Given the description of an element on the screen output the (x, y) to click on. 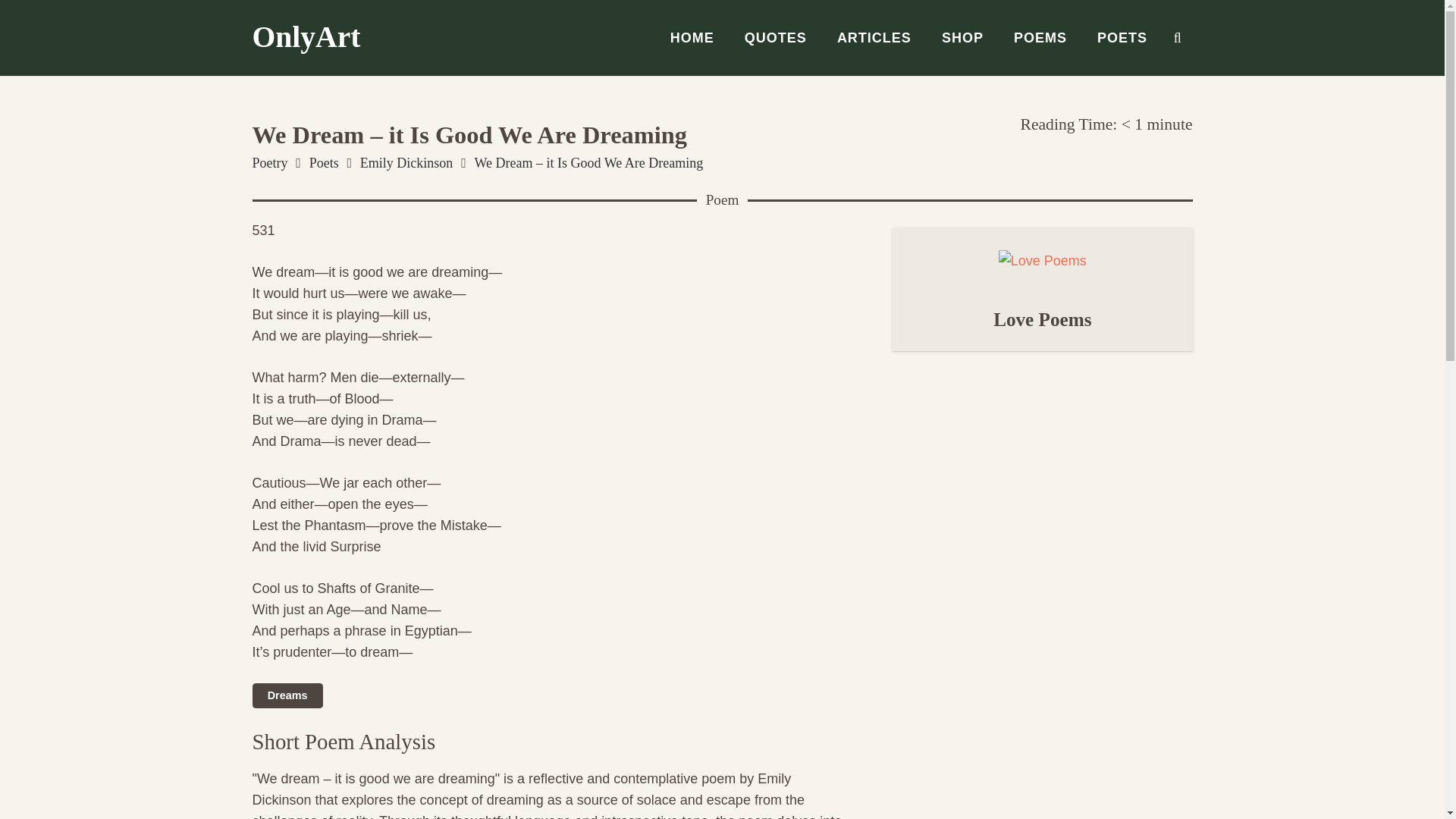
SHOP (962, 38)
Poetry (268, 162)
ARTICLES (874, 38)
HOME (692, 38)
POETS (1121, 38)
QUOTES (775, 38)
POEMS (1039, 38)
Emily Dickinson (405, 162)
Dreams (286, 695)
Poets (323, 162)
